Given the description of an element on the screen output the (x, y) to click on. 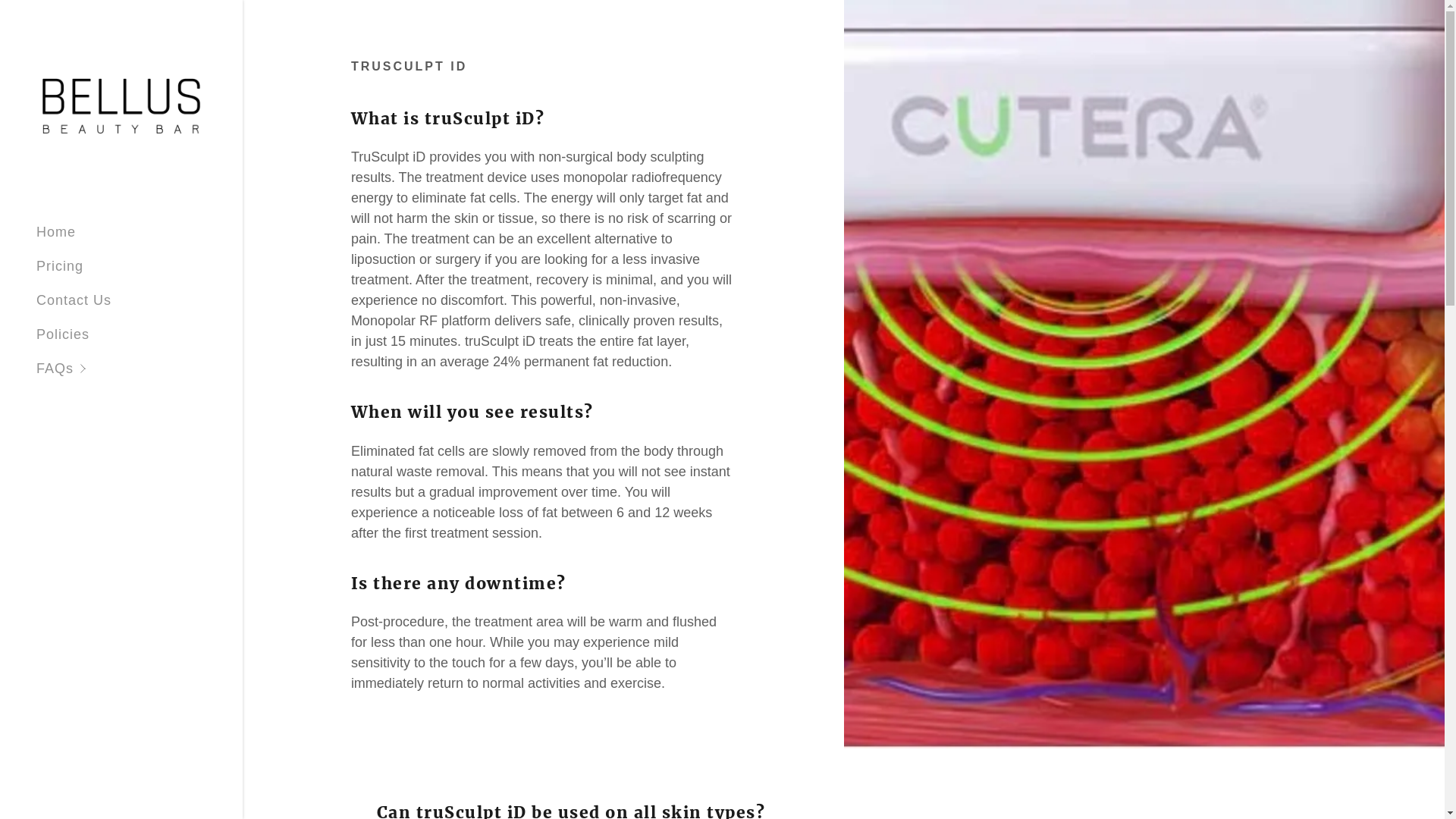
Policies Element type: text (62, 334)
Pricing Element type: text (59, 265)
FAQs Element type: text (139, 368)
Bellus Beauty Bar Element type: hover (121, 104)
Contact Us Element type: text (73, 299)
Home Element type: text (55, 231)
